Given the description of an element on the screen output the (x, y) to click on. 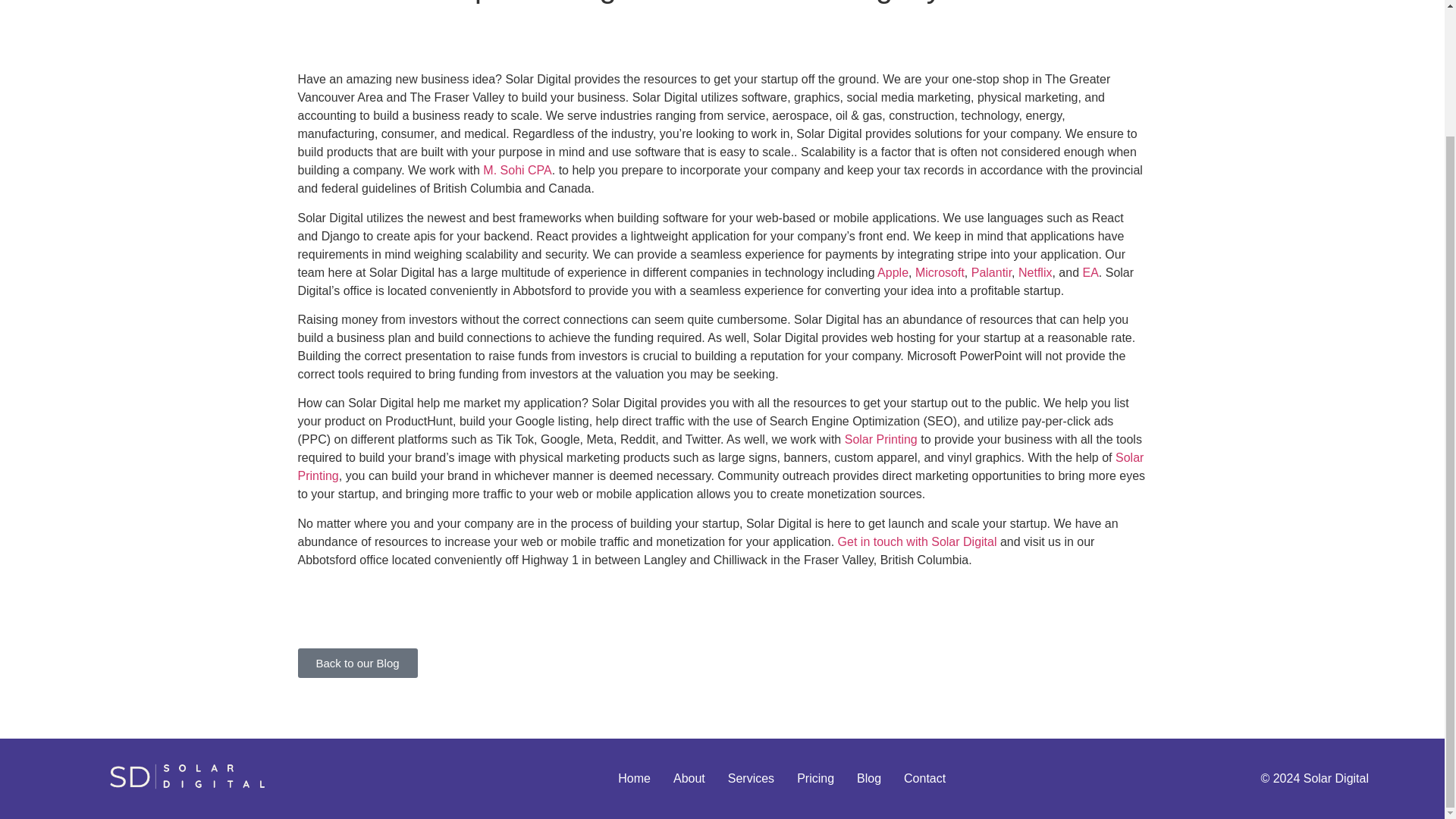
M. Sohi CPA (517, 169)
Blog (868, 778)
Netflix (1034, 272)
Home (634, 778)
About (689, 778)
Get in touch with Solar Digital (917, 541)
Apple (892, 272)
Back to our Blog (356, 663)
Microsoft (939, 272)
Palantir (991, 272)
Solar Printing (719, 466)
Contact (924, 778)
Solar Printing (880, 439)
Pricing (815, 778)
EA (1089, 272)
